Given the description of an element on the screen output the (x, y) to click on. 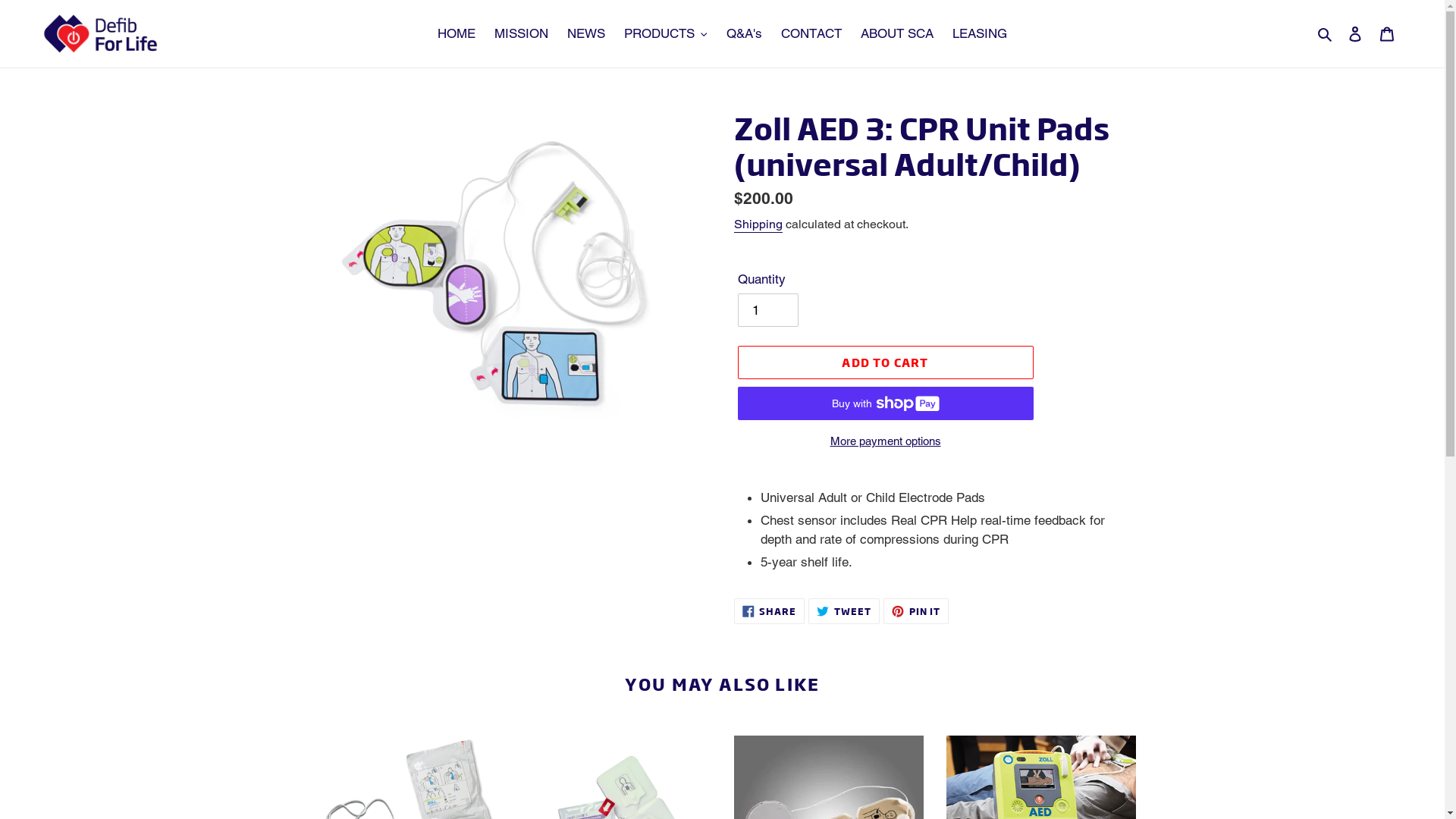
Shipping Element type: text (758, 224)
Cart Element type: text (1386, 33)
TWEET
TWEET ON TWITTER Element type: text (843, 611)
HOME Element type: text (456, 33)
More payment options Element type: text (884, 441)
Log in Element type: text (1355, 33)
ABOUT SCA Element type: text (897, 33)
MISSION Element type: text (520, 33)
Q&A's Element type: text (743, 33)
PIN IT
PIN ON PINTEREST Element type: text (915, 611)
Search Element type: text (1325, 33)
PRODUCTS Element type: text (665, 33)
NEWS Element type: text (585, 33)
LEASING Element type: text (979, 33)
CONTACT Element type: text (811, 33)
ADD TO CART Element type: text (884, 362)
SHARE
SHARE ON FACEBOOK Element type: text (769, 611)
